Given the description of an element on the screen output the (x, y) to click on. 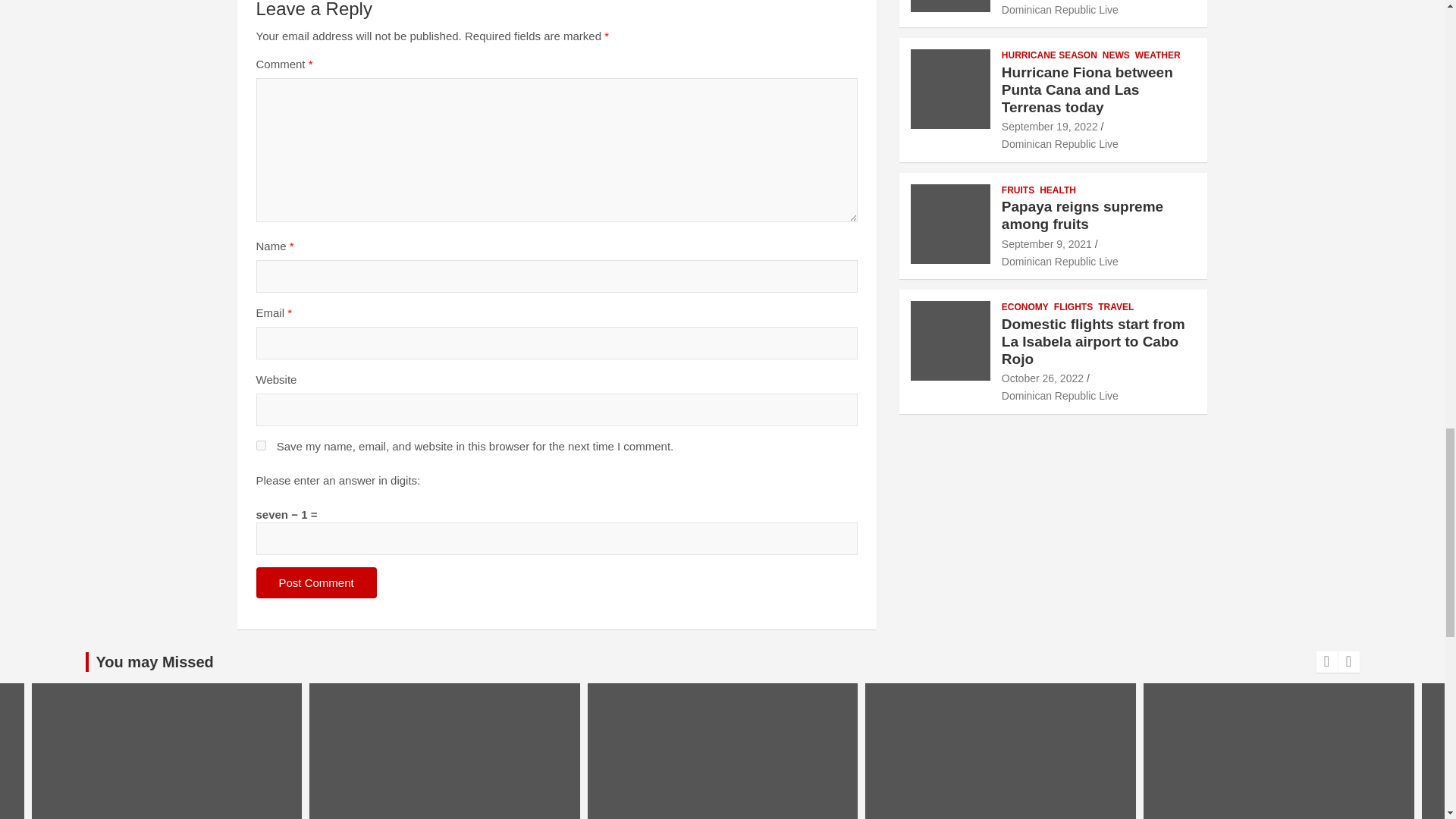
Papaya reigns supreme among fruits (1046, 244)
yes (261, 445)
Hurricane Fiona between Punta Cana and Las Terrenas today (1049, 126)
Post Comment (316, 582)
Domestic flights start from La Isabela airport to Cabo Rojo (1042, 378)
Post Comment (316, 582)
